Given the description of an element on the screen output the (x, y) to click on. 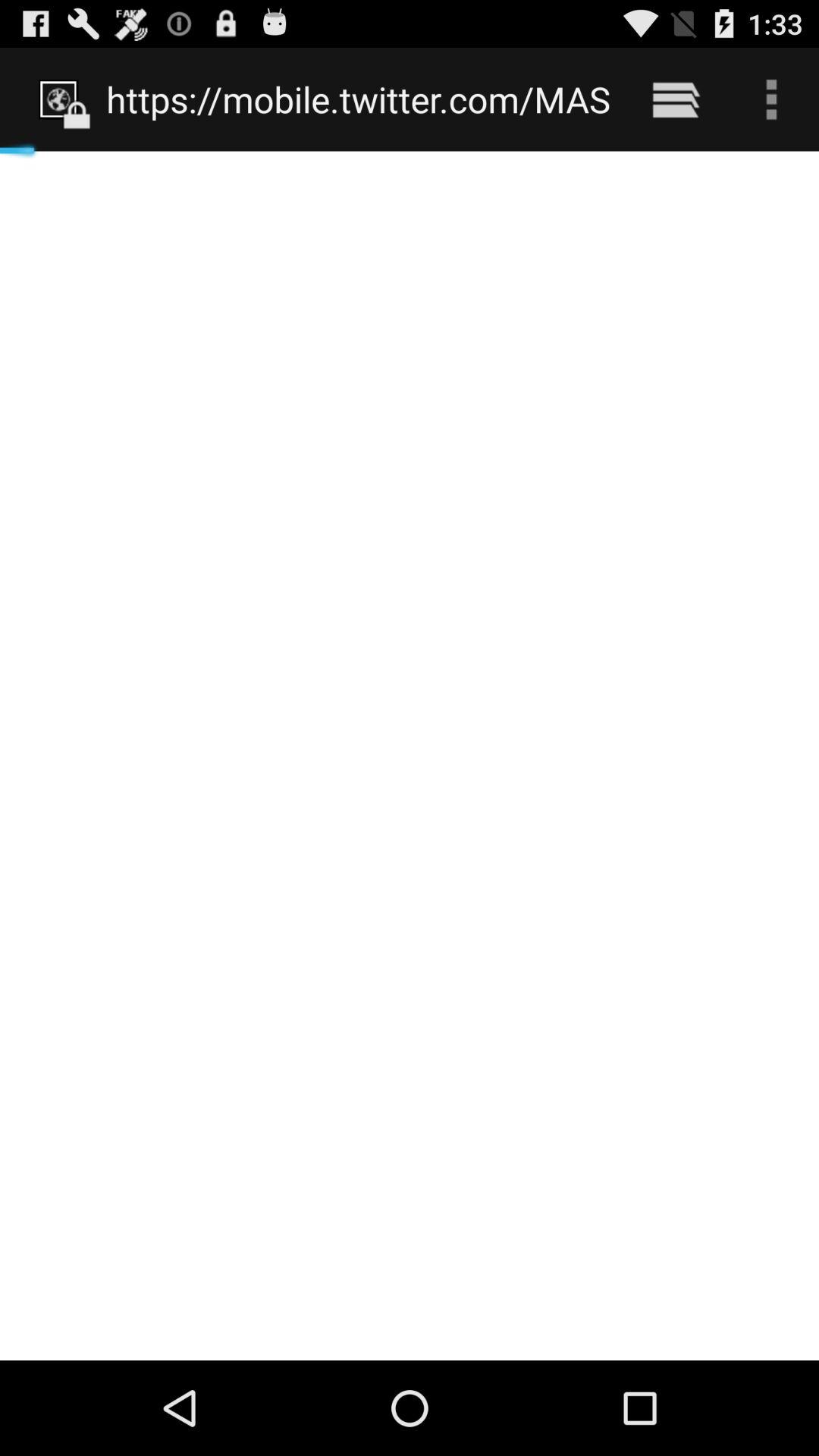
open icon to the right of the https mobile twitter (675, 99)
